Given the description of an element on the screen output the (x, y) to click on. 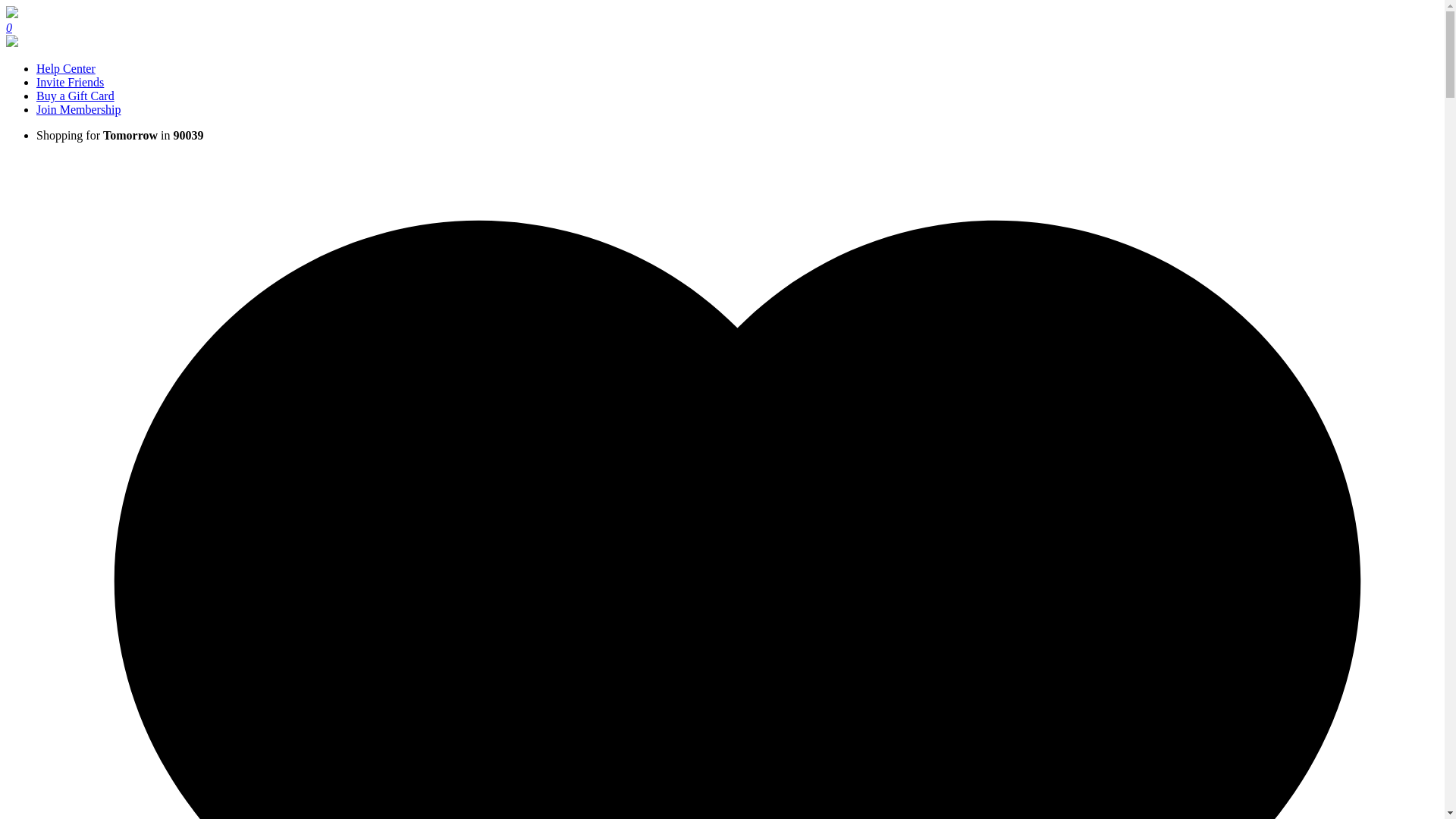
Help Center (66, 68)
Buy a Gift Card (75, 95)
Join Membership (78, 109)
Invite Friends (69, 82)
